Given the description of an element on the screen output the (x, y) to click on. 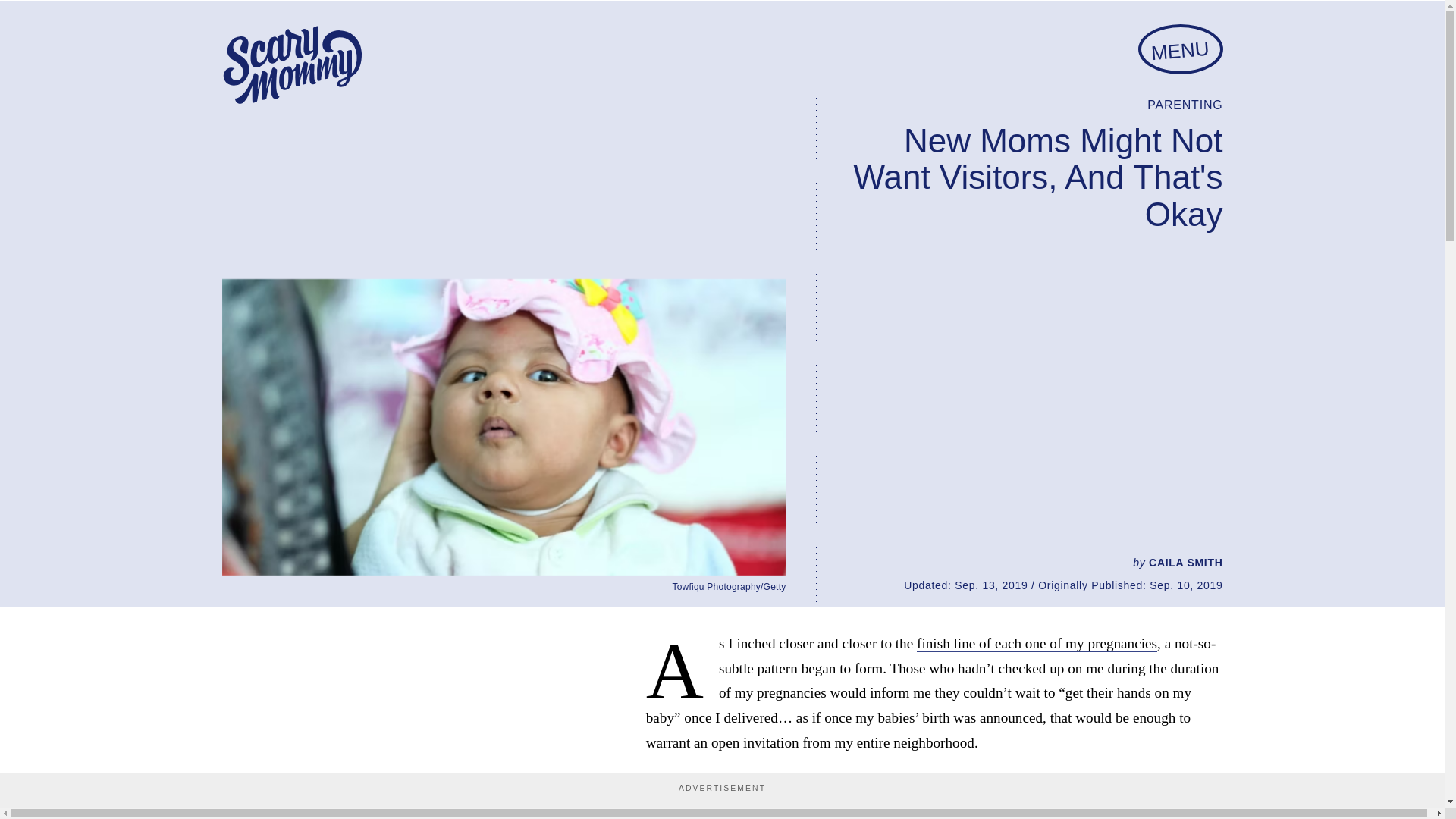
finish line of each one of my pregnancies (1037, 643)
Scary Mommy (291, 64)
